Given the description of an element on the screen output the (x, y) to click on. 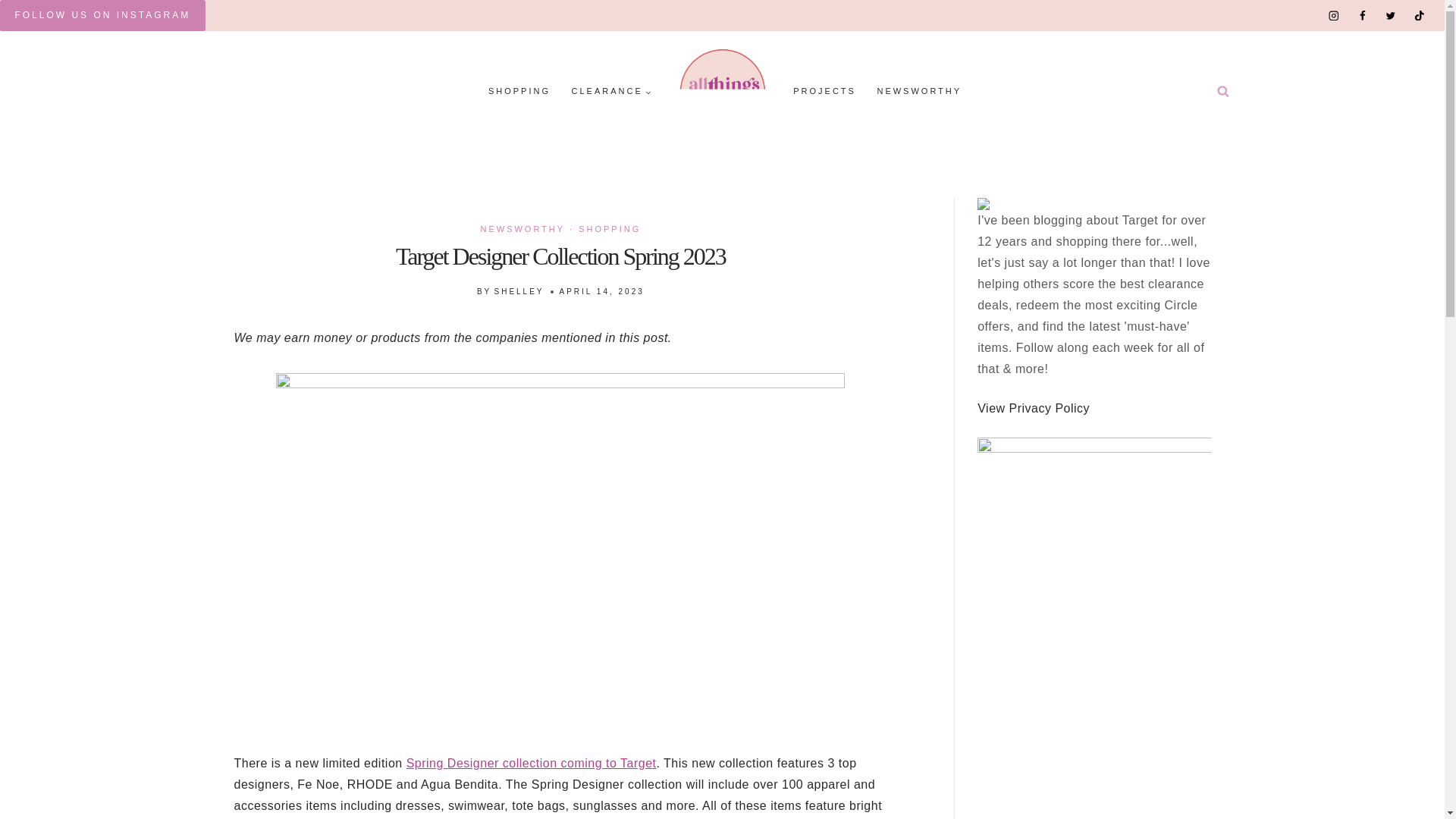
FOLLOW US ON INSTAGRAM (102, 15)
SHELLEY (518, 291)
NEWSWORTHY (522, 228)
Spring Designer collection coming to Target (531, 762)
NEWSWORTHY (919, 92)
SHOPPING (518, 92)
CLEARANCE (611, 92)
SHOPPING (609, 228)
PROJECTS (824, 92)
